Given the description of an element on the screen output the (x, y) to click on. 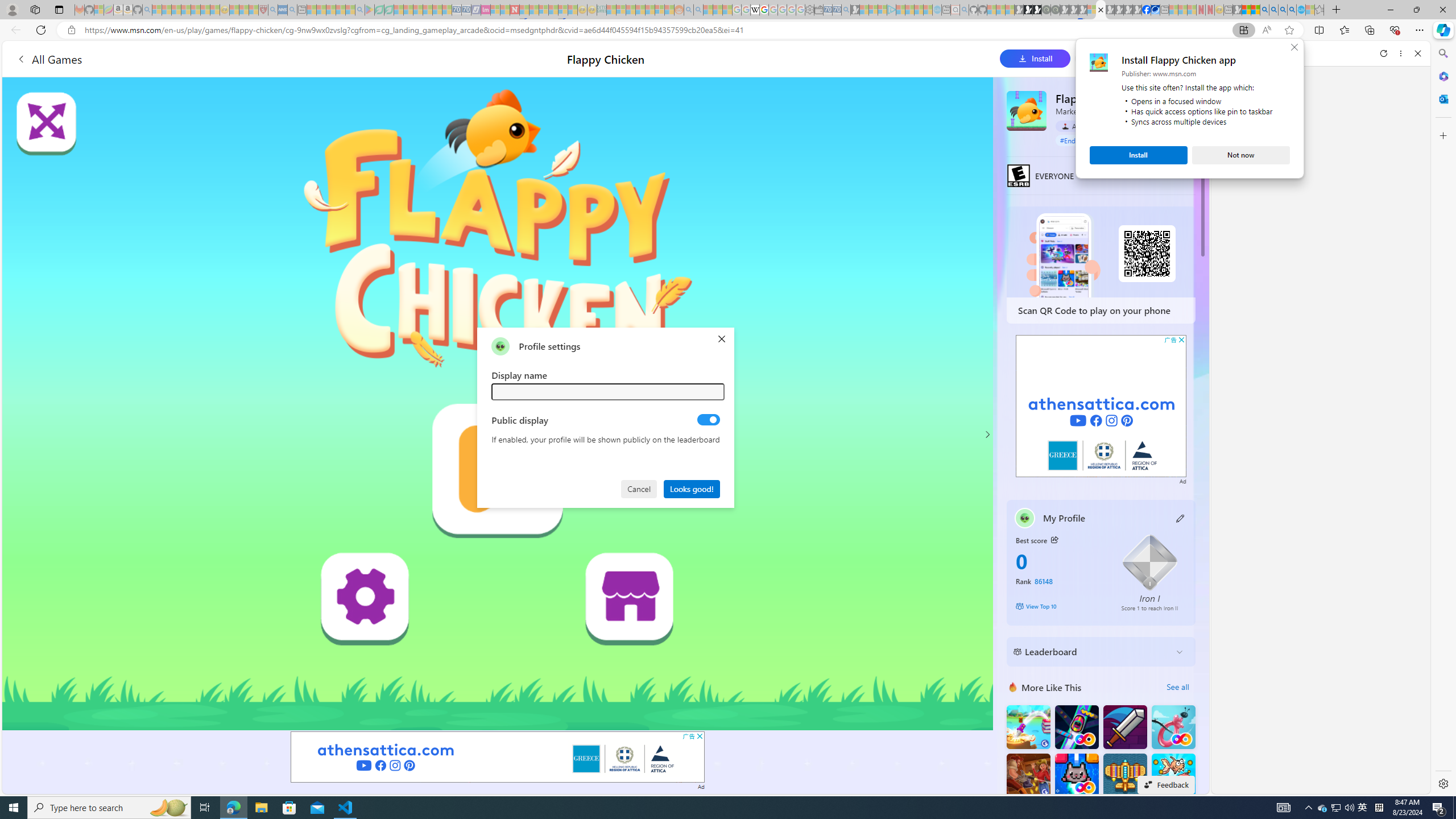
Task View (204, 807)
File Explorer (261, 807)
Start (1335, 807)
Search highlights icon opens search home window (13, 807)
Class: control (167, 807)
Type here to search (986, 434)
EVERYONE (108, 807)
Saloon Robbery (1018, 175)
